Given the description of an element on the screen output the (x, y) to click on. 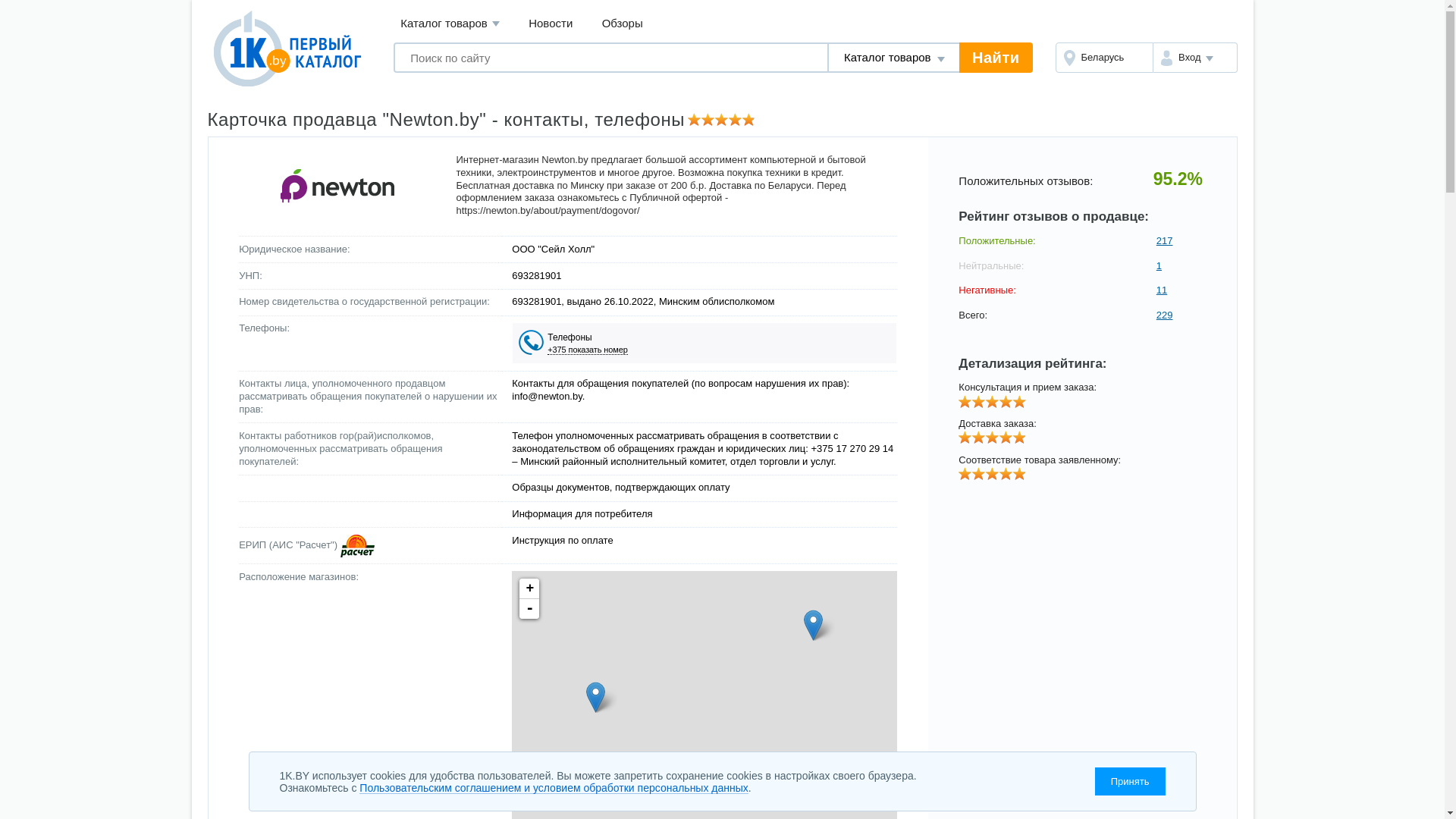
11 Element type: text (1180, 289)
+ Element type: text (529, 588)
229 Element type: text (1180, 315)
217 Element type: text (1180, 240)
1 Element type: text (1180, 265)
- Element type: text (529, 608)
